Given the description of an element on the screen output the (x, y) to click on. 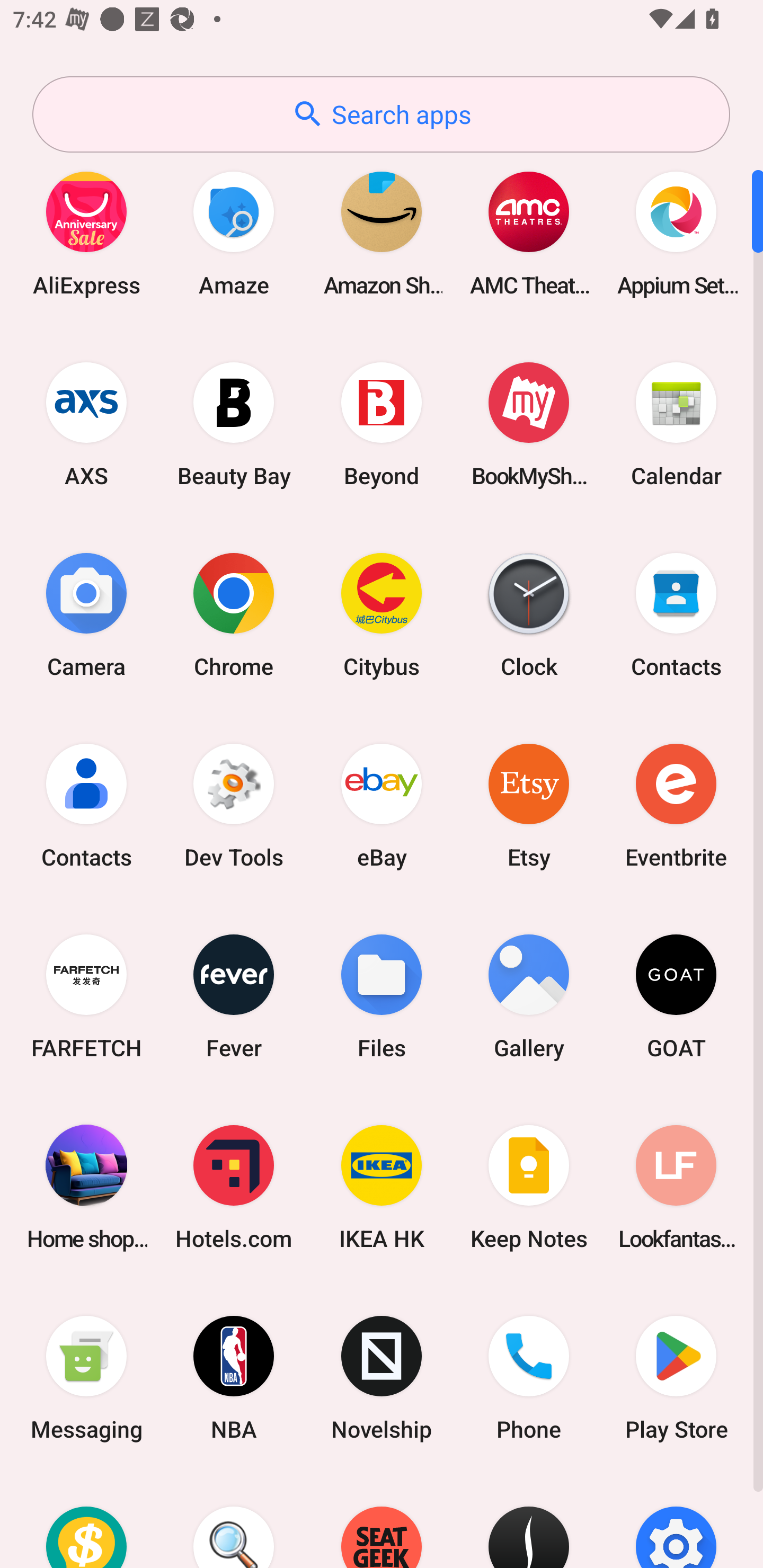
  Search apps (381, 114)
AliExpress (86, 233)
Amaze (233, 233)
Amazon Shopping (381, 233)
AMC Theatres (528, 233)
Appium Settings (676, 233)
AXS (86, 424)
Beauty Bay (233, 424)
Beyond (381, 424)
BookMyShow (528, 424)
Calendar (676, 424)
Camera (86, 614)
Chrome (233, 614)
Citybus (381, 614)
Clock (528, 614)
Contacts (676, 614)
Contacts (86, 805)
Dev Tools (233, 805)
eBay (381, 805)
Etsy (528, 805)
Eventbrite (676, 805)
FARFETCH (86, 996)
Fever (233, 996)
Files (381, 996)
Gallery (528, 996)
GOAT (676, 996)
Home shopping (86, 1186)
Hotels.com (233, 1186)
IKEA HK (381, 1186)
Keep Notes (528, 1186)
Lookfantastic (676, 1186)
Messaging (86, 1377)
NBA (233, 1377)
Novelship (381, 1377)
Phone (528, 1377)
Play Store (676, 1377)
